Given the description of an element on the screen output the (x, y) to click on. 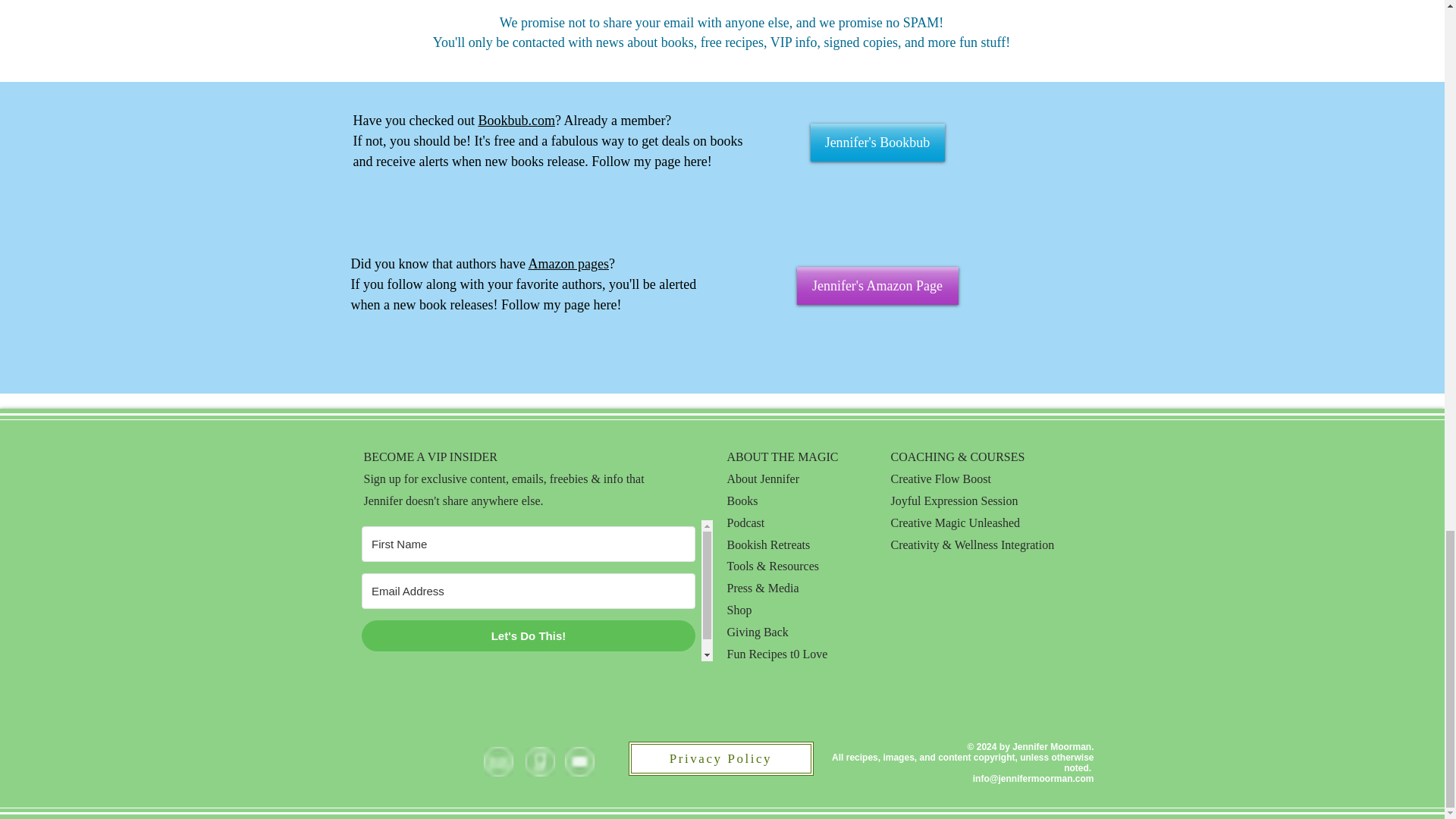
Jennifer's Bookbub (876, 142)
Books (741, 500)
Bookish Retreats (767, 544)
About Jennifer (762, 478)
Jennifer's Amazon Page (877, 285)
Jennifer Moorman Subscribe (533, 590)
Bookbub.com (515, 120)
Amazon pages (567, 263)
Shop (738, 609)
